Given the description of an element on the screen output the (x, y) to click on. 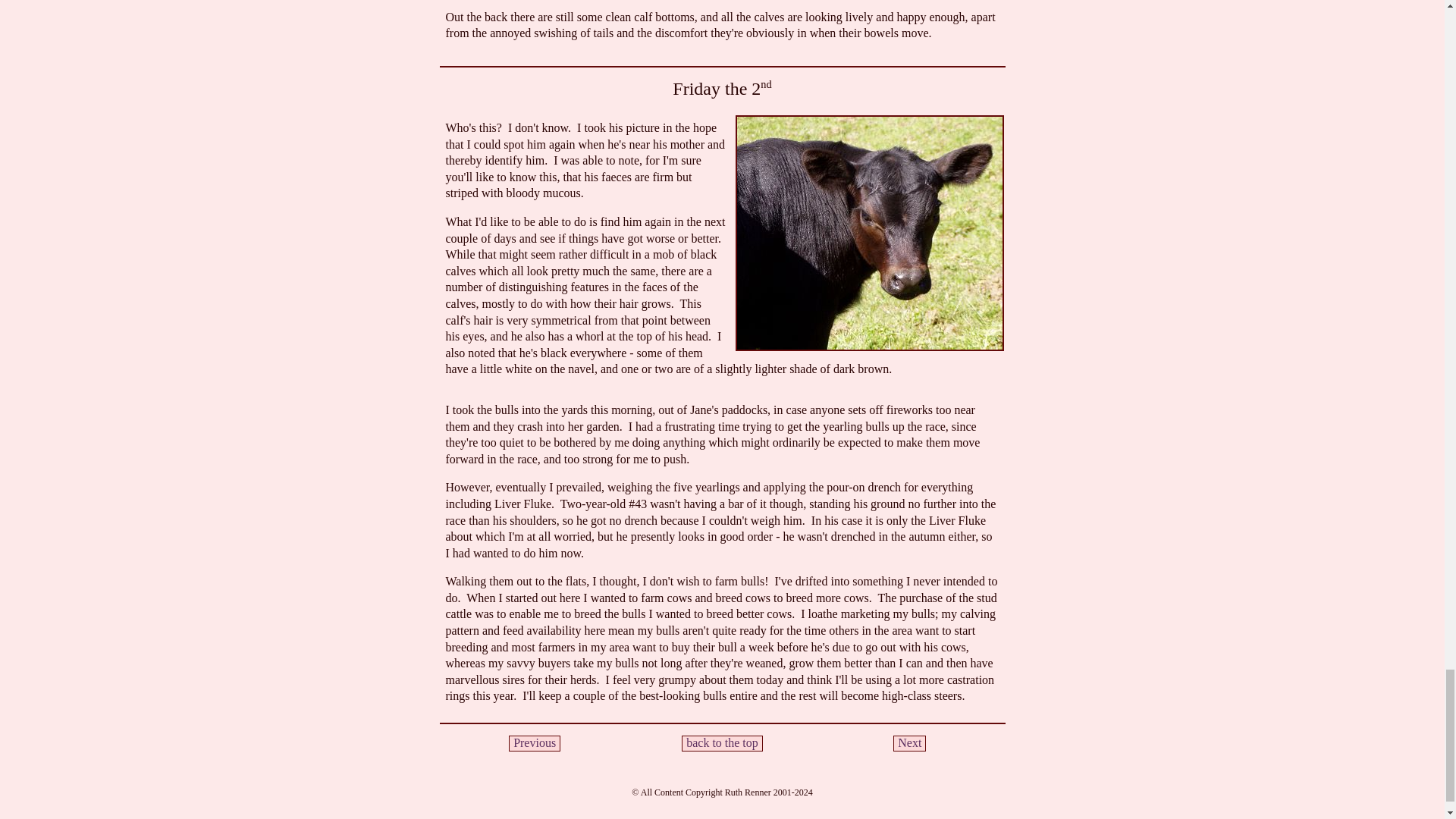
Next (909, 743)
20th of October (534, 743)
3rd of November (909, 743)
unidentified calf (869, 233)
back to the top (721, 743)
Previous (534, 743)
